Given the description of an element on the screen output the (x, y) to click on. 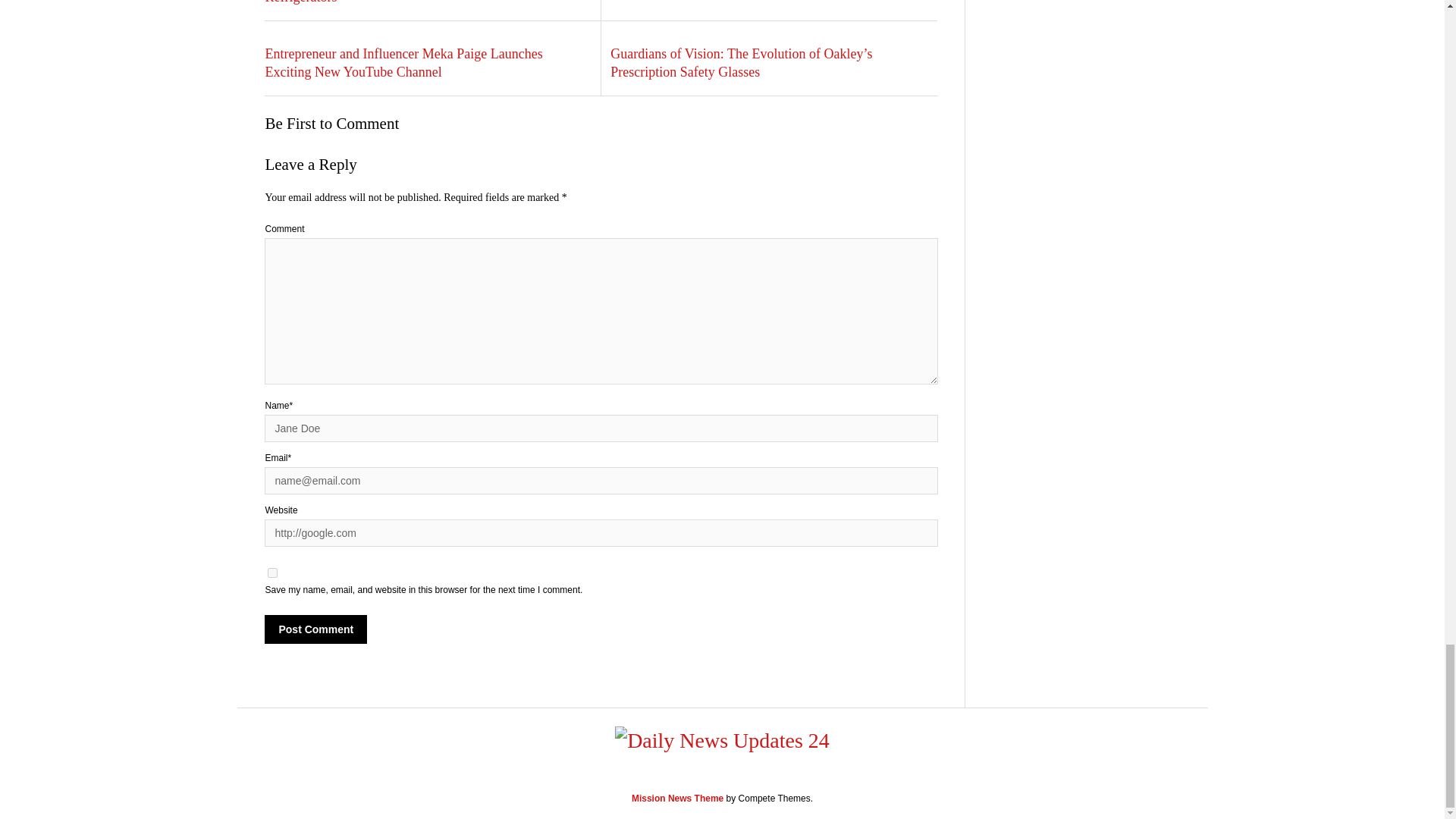
yes (272, 573)
Post Comment (315, 629)
